Given the description of an element on the screen output the (x, y) to click on. 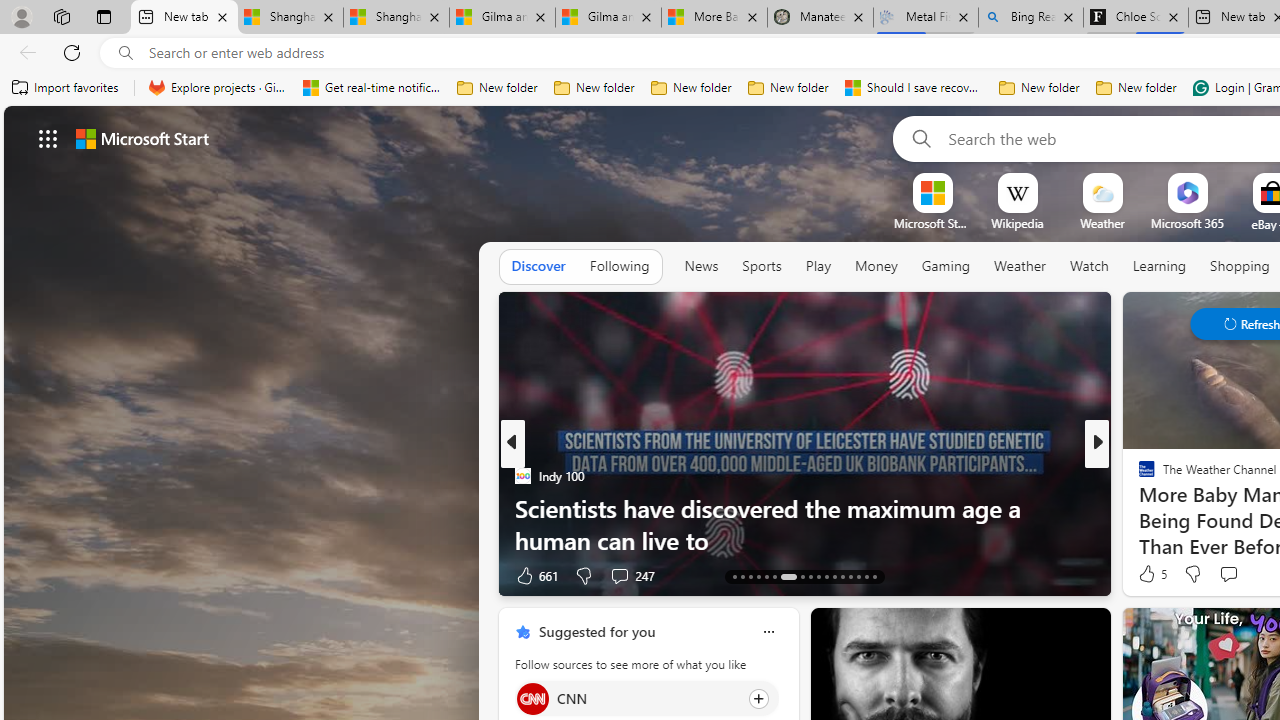
Sports (761, 267)
AutomationID: tab-15 (750, 576)
Climate Crisis 247 (1138, 475)
AutomationID: tab-14 (742, 576)
Learning (1159, 265)
View comments 247 Comment (619, 575)
AutomationID: tab-20 (801, 576)
Money (875, 265)
View comments 25 Comment (1237, 574)
AutomationID: tab-39 (850, 576)
5 Like (1151, 574)
